Given the description of an element on the screen output the (x, y) to click on. 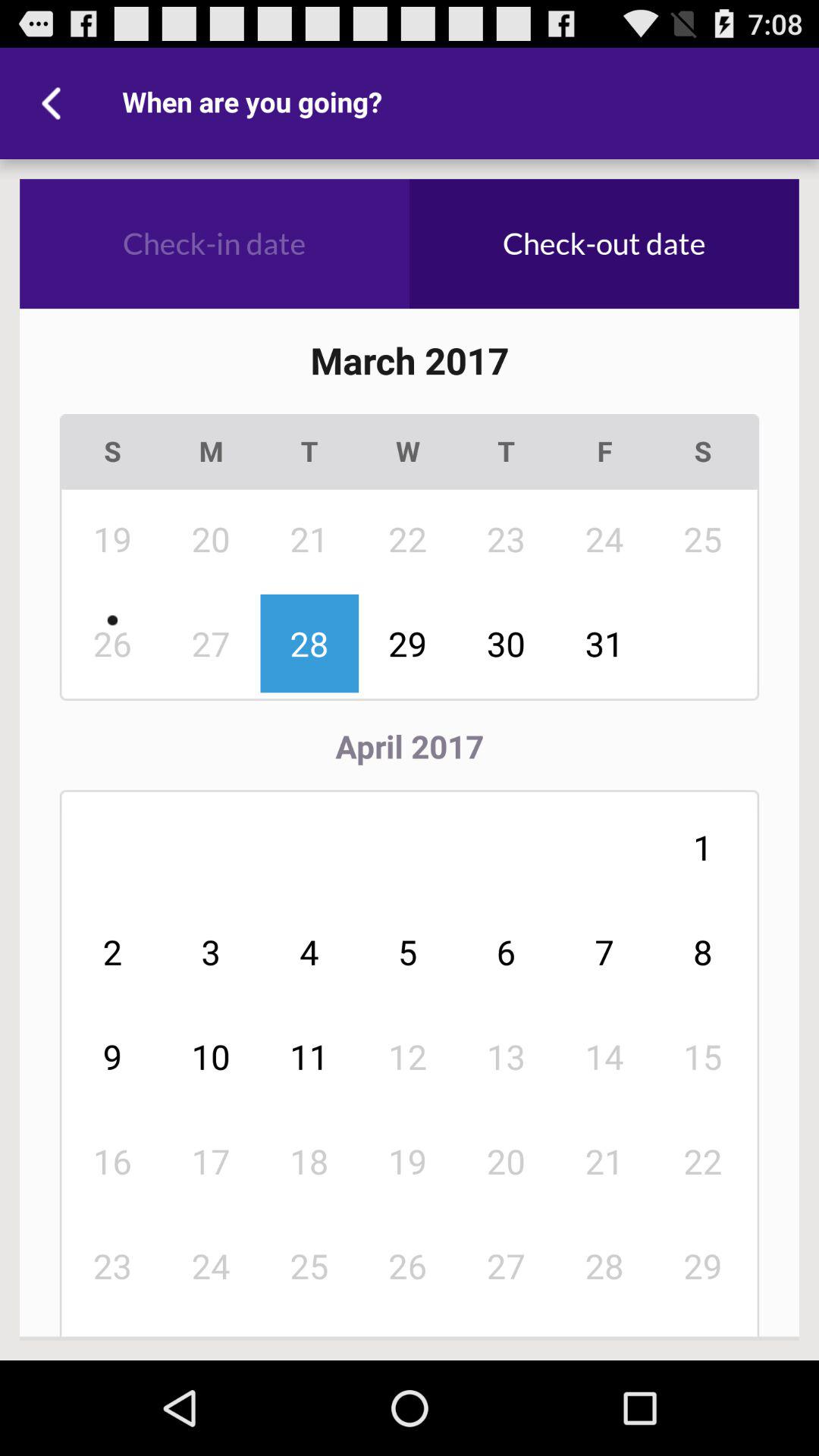
turn on the 11 item (309, 1056)
